Given the description of an element on the screen output the (x, y) to click on. 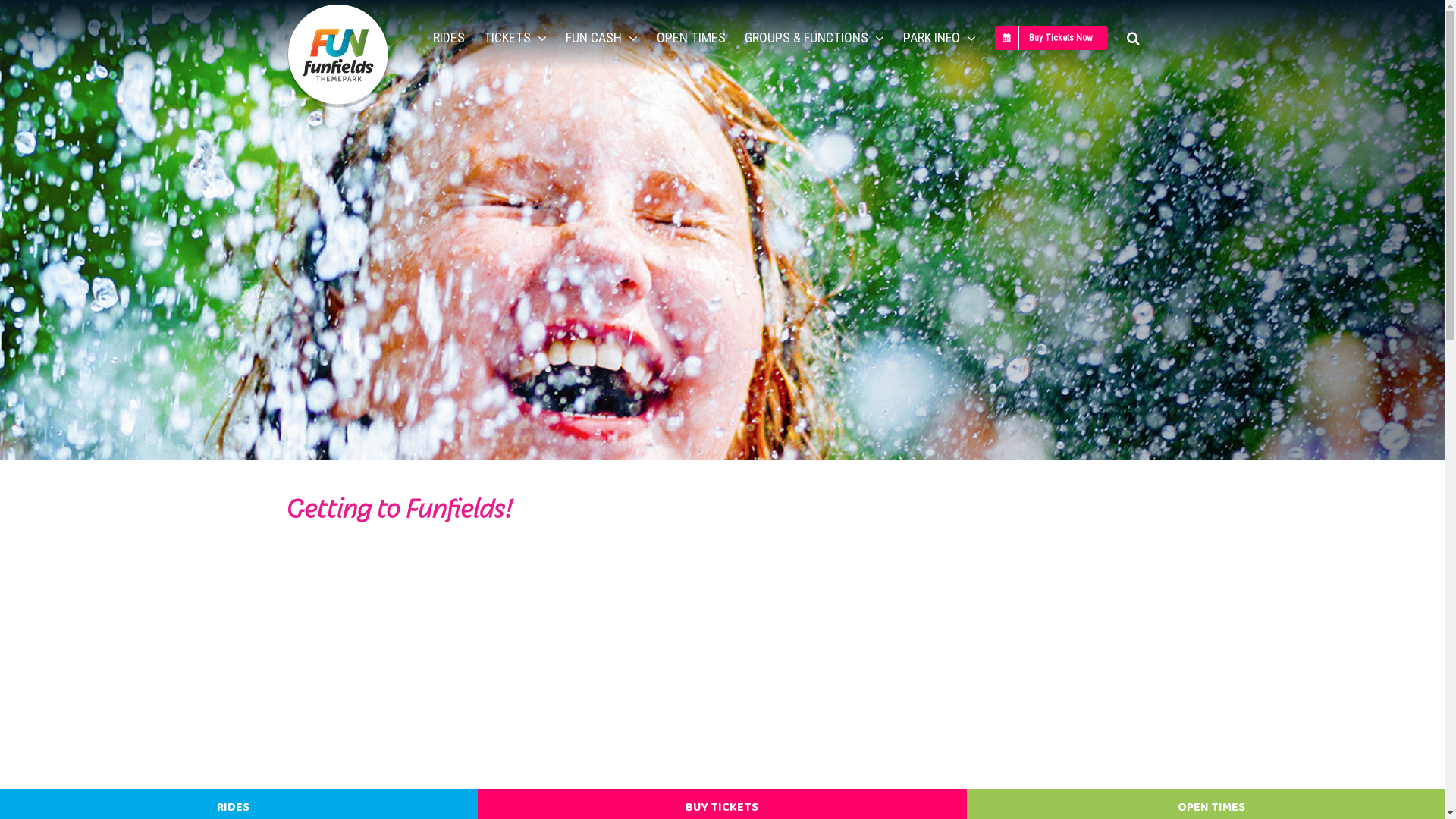
TICKETS Element type: text (514, 37)
RIDES Element type: text (448, 37)
Search Element type: hover (1132, 37)
FUN CASH Element type: text (601, 37)
Buy Tickets Now Element type: text (1050, 37)
OPEN TIMES Element type: text (690, 37)
PARK INFO Element type: text (938, 37)
GROUPS & FUNCTIONS Element type: text (814, 37)
